Given the description of an element on the screen output the (x, y) to click on. 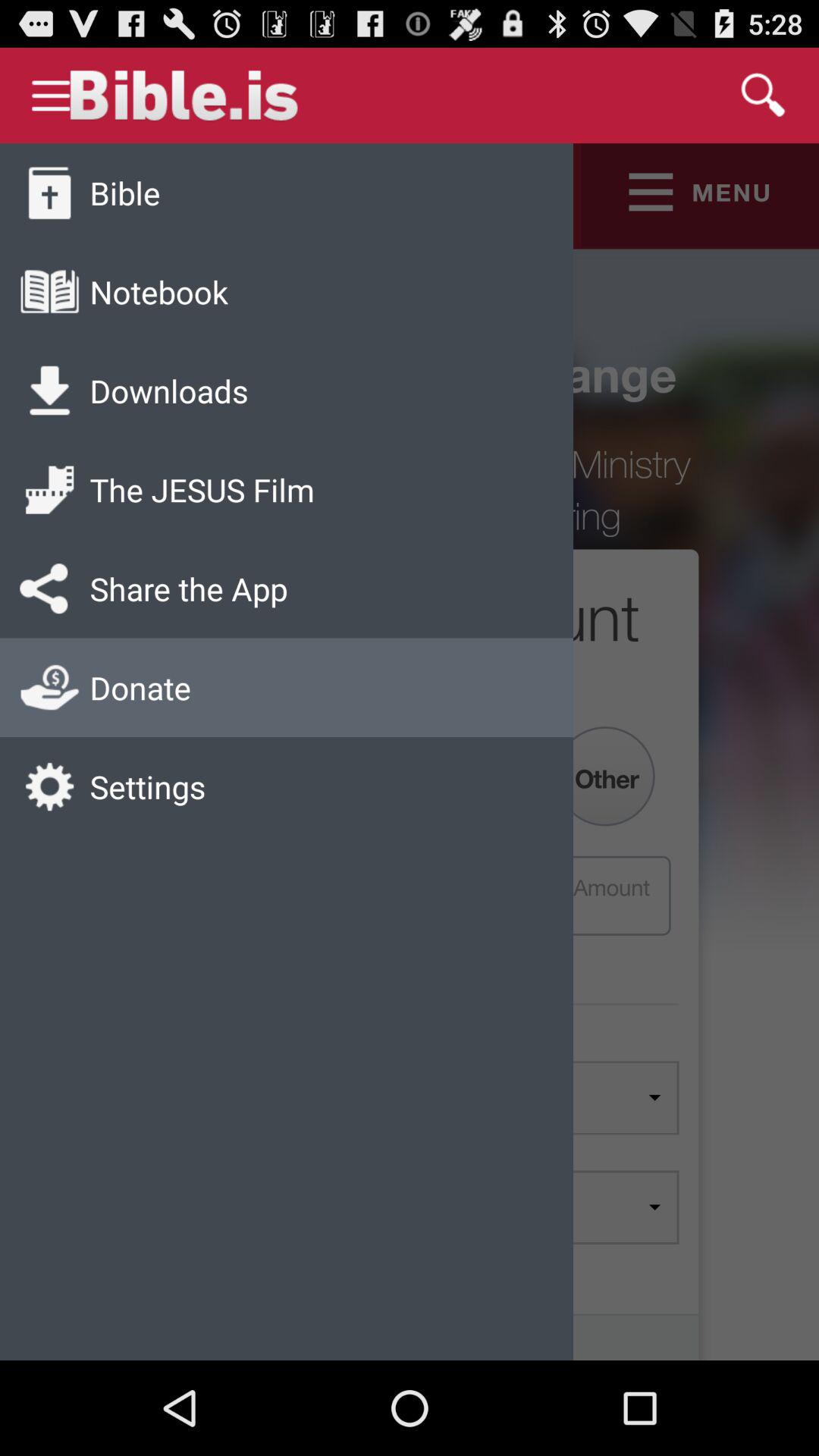
press app above downloads item (158, 291)
